Given the description of an element on the screen output the (x, y) to click on. 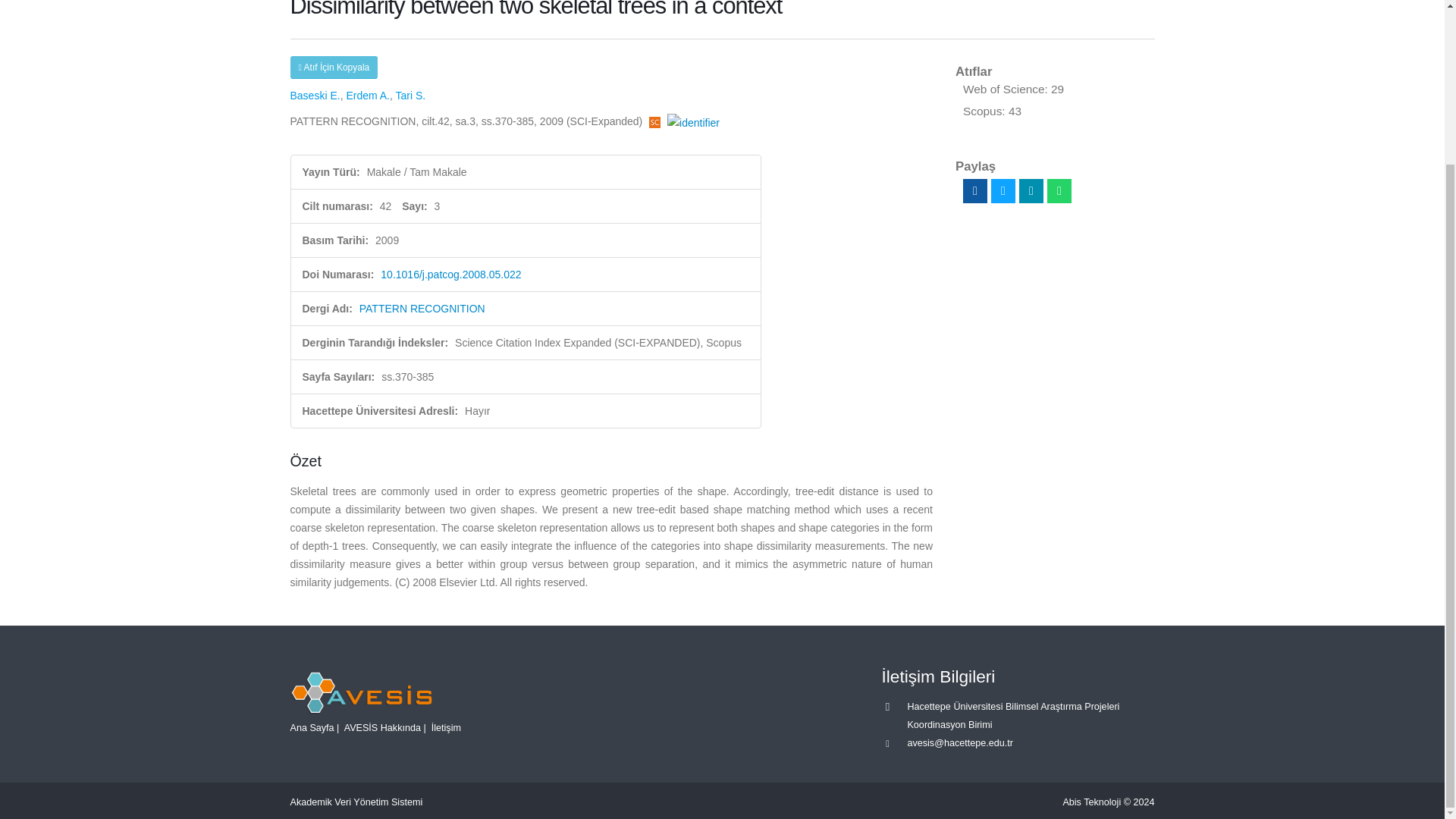
Ana Sayfa (311, 727)
PATTERN RECOGNITION (421, 308)
Abis Teknoloji (1091, 801)
S. Tari (411, 95)
A. Erdem (368, 95)
Baseski E. (314, 95)
Erdem A. (368, 95)
Tari S. (411, 95)
